Given the description of an element on the screen output the (x, y) to click on. 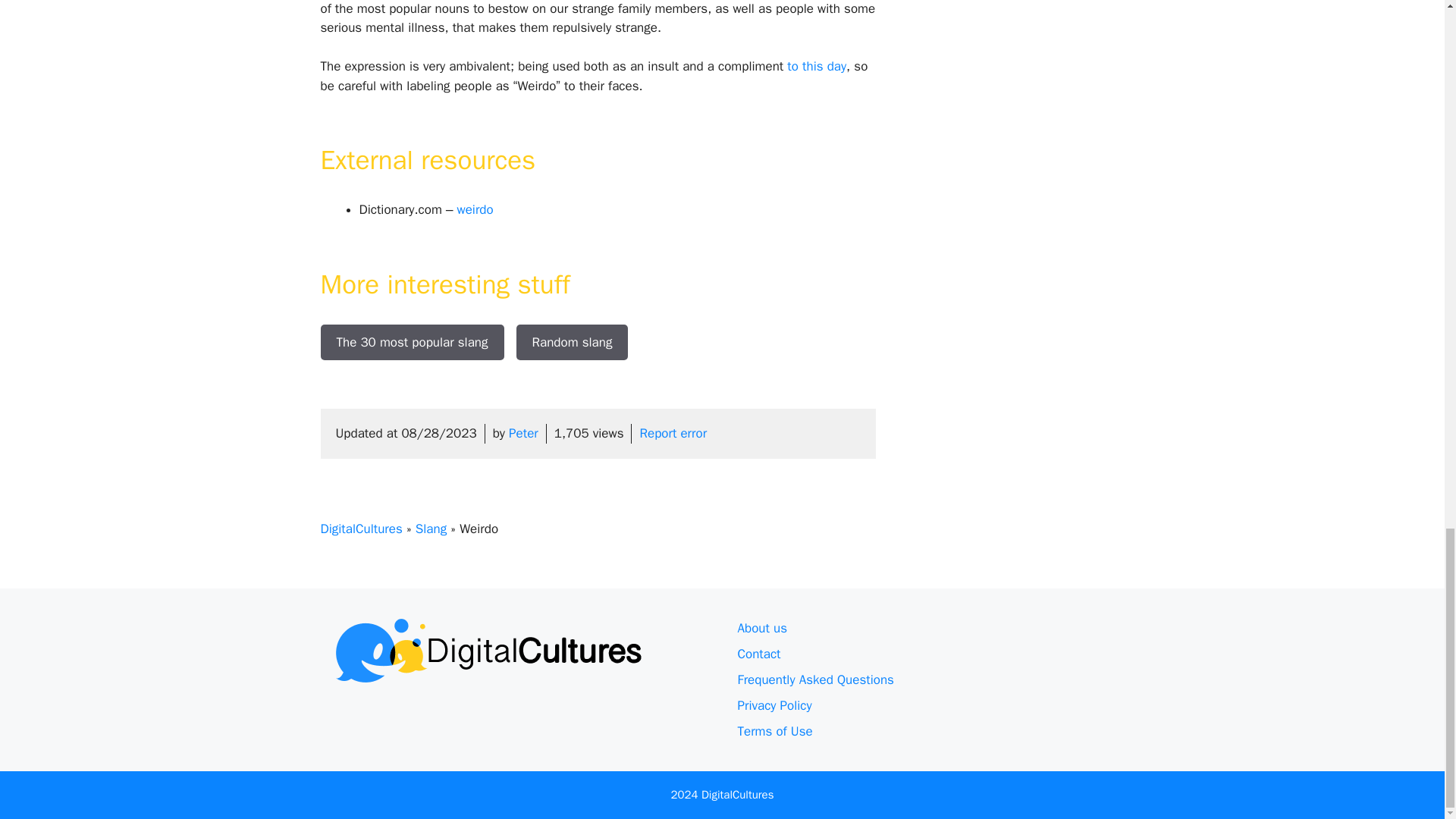
Slang (430, 528)
DigitalCultures (360, 528)
Report error (672, 433)
Random slang (571, 342)
Peter (523, 433)
The 30 most popular slang (411, 342)
weirdo (475, 209)
to this day (816, 66)
